Given the description of an element on the screen output the (x, y) to click on. 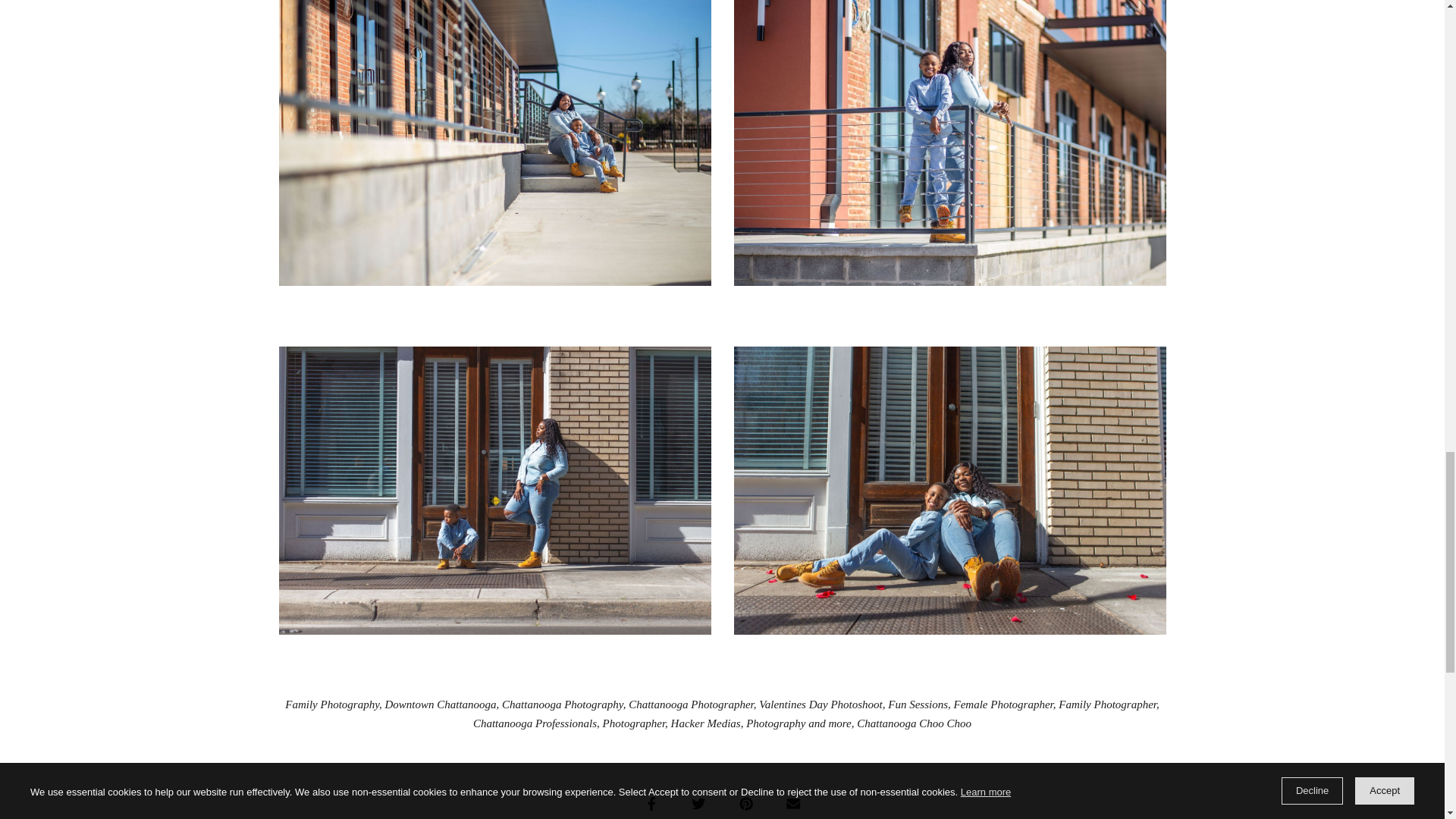
Family Photography (331, 704)
Downtown Chattanooga (440, 704)
Chattanooga Photography (562, 704)
Fun Sessions (917, 704)
Female Photographer (1002, 704)
Valentines Day Photoshoot (820, 704)
Chattanooga Photographer (691, 704)
